Given the description of an element on the screen output the (x, y) to click on. 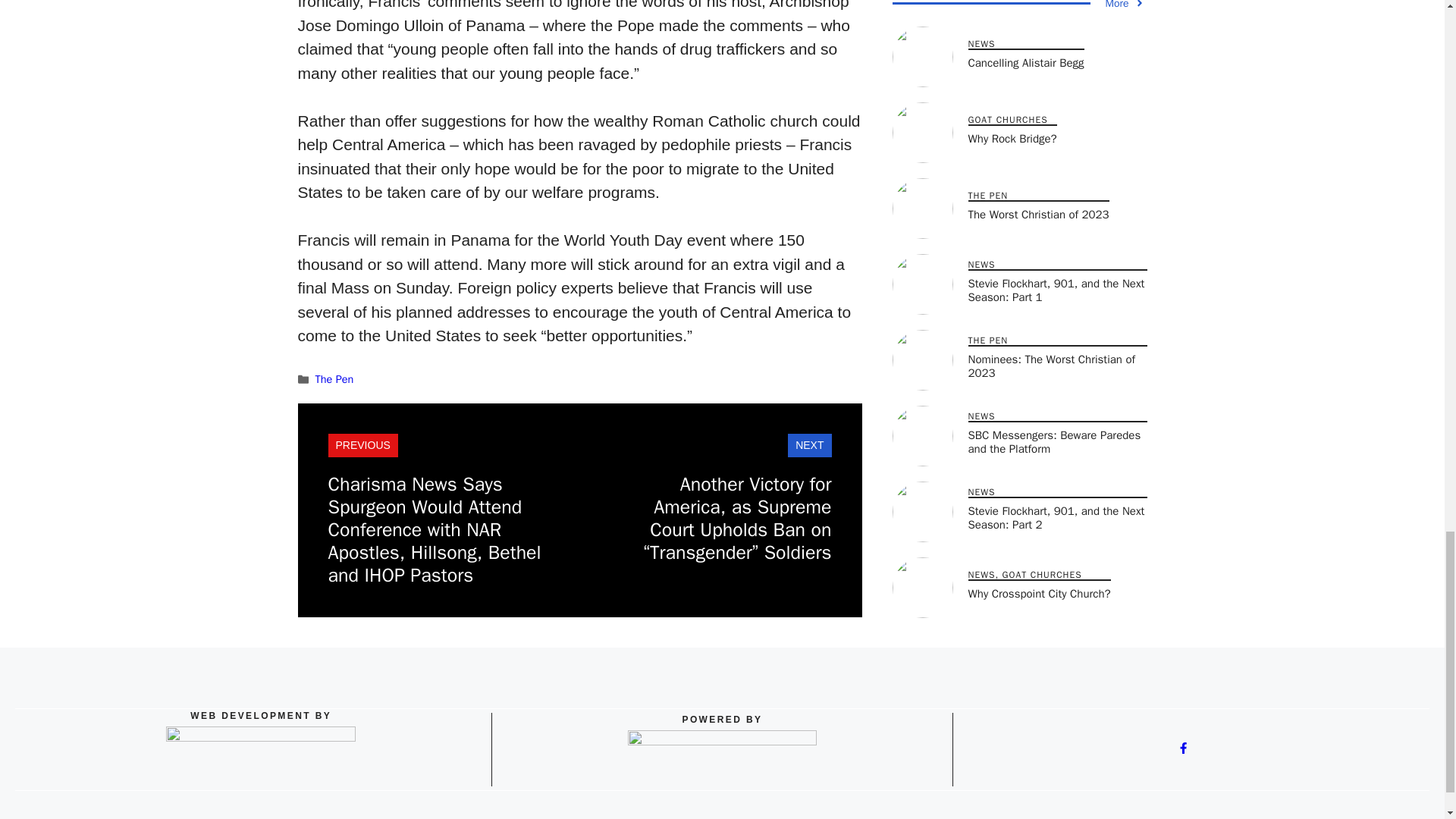
Reformed-Hosting-Logo-250x49-1 (721, 758)
Website-Psychiatrist-Logo-300x108-1 (260, 758)
The Pen (334, 378)
